Given the description of an element on the screen output the (x, y) to click on. 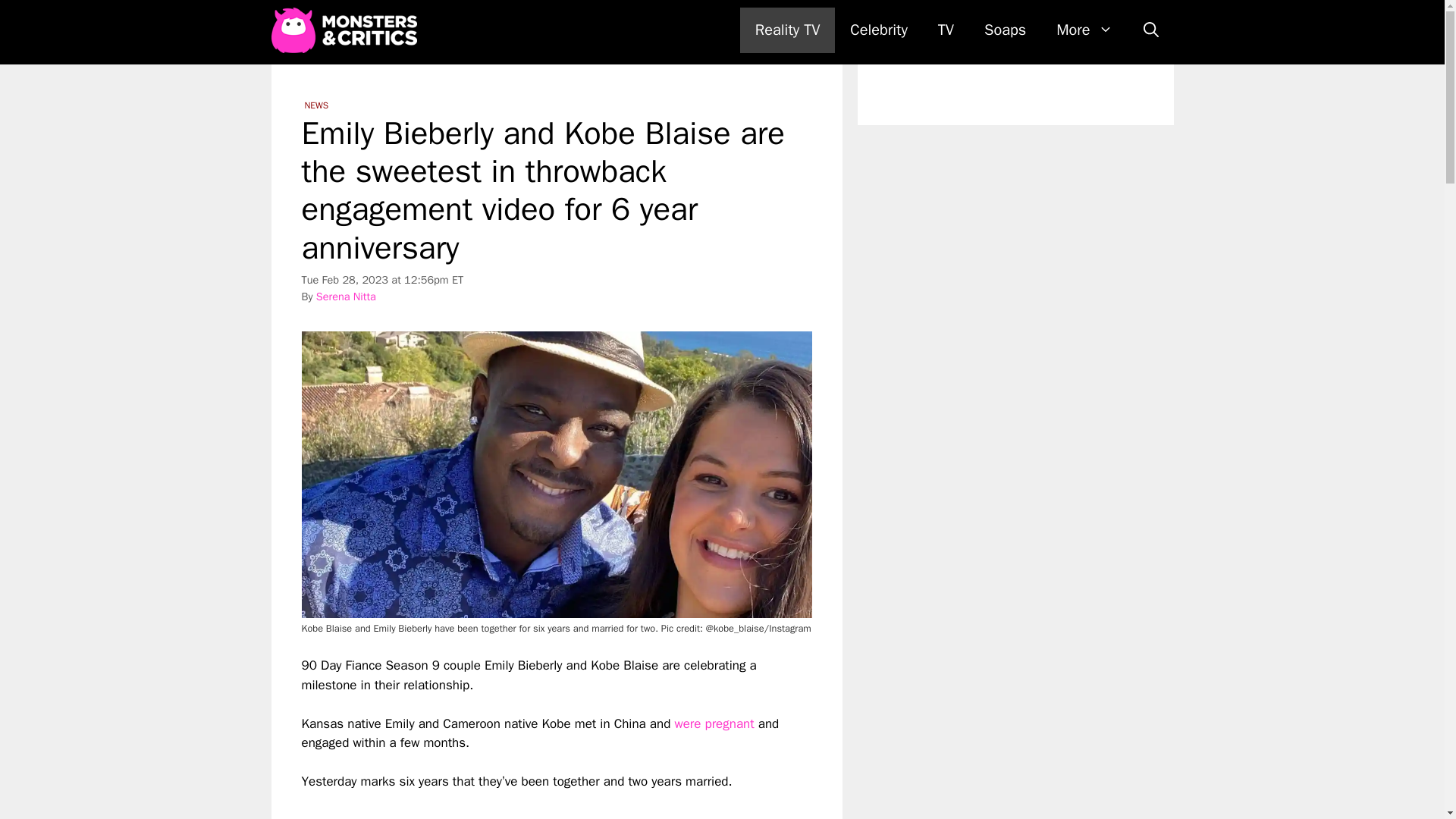
Monsters and Critics (347, 30)
More (1083, 30)
YouTube video player (513, 805)
Reality TV (787, 30)
TV (946, 30)
Monsters and Critics (343, 30)
Celebrity (877, 30)
View all posts by Serena Nitta (345, 296)
Serena Nitta (345, 296)
were pregnant (714, 723)
